Given the description of an element on the screen output the (x, y) to click on. 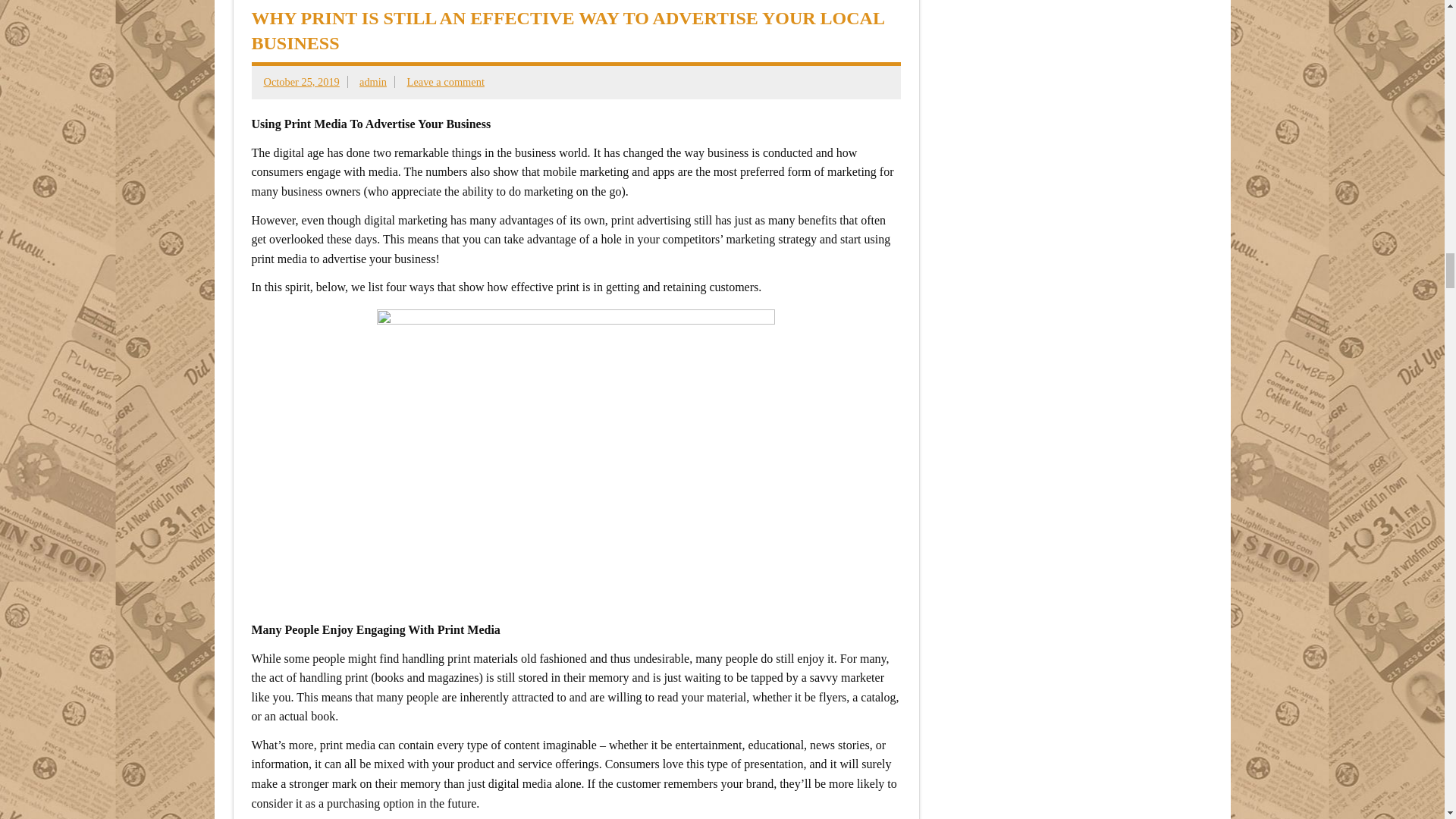
October 25, 2019 (301, 81)
admin (373, 81)
View all posts by admin (373, 81)
2:05 am (301, 81)
